Given the description of an element on the screen output the (x, y) to click on. 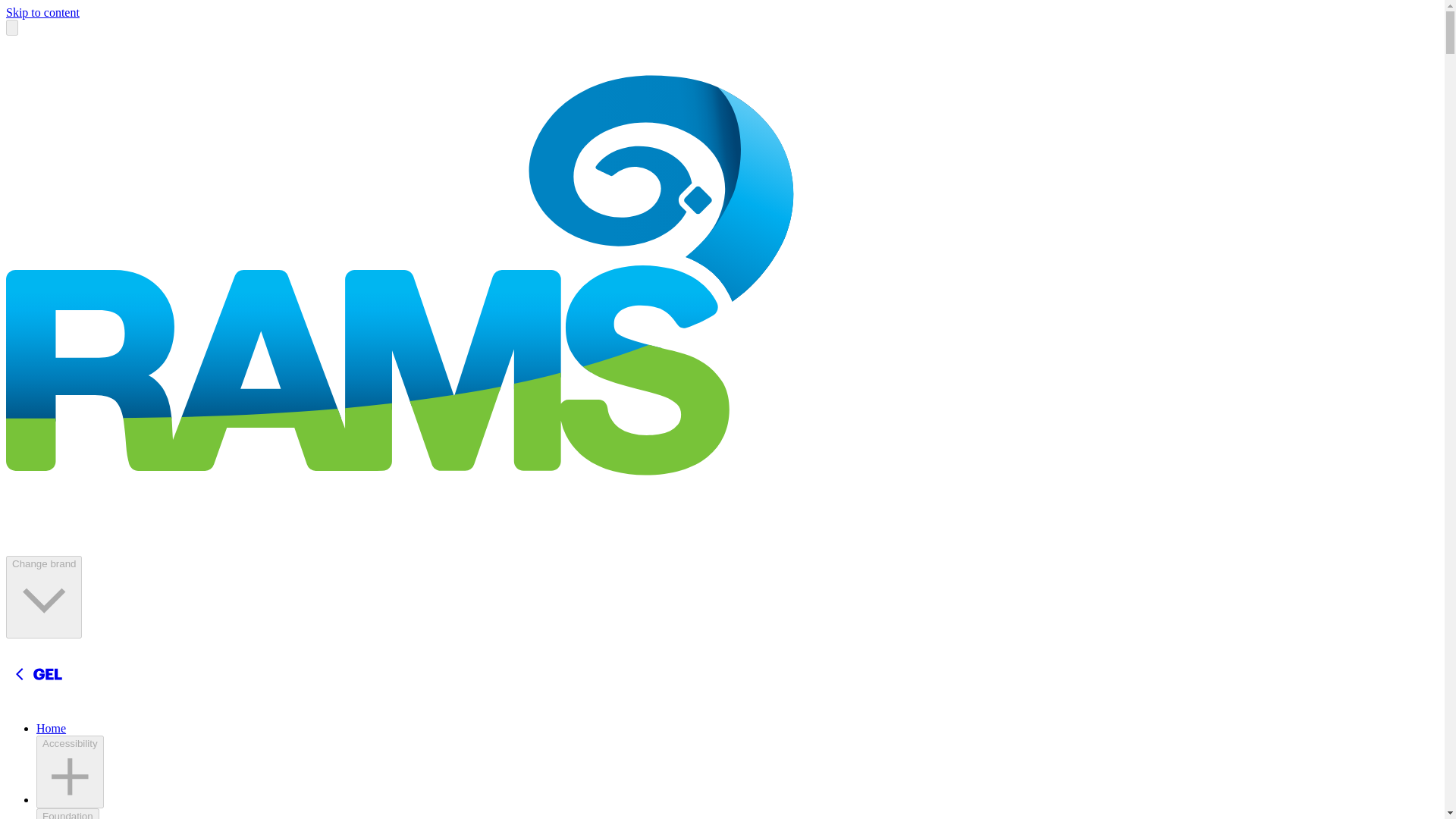
Back to GEL (118, 702)
Back to GEL (118, 672)
Skip to content (42, 11)
Home (50, 727)
